Given the description of an element on the screen output the (x, y) to click on. 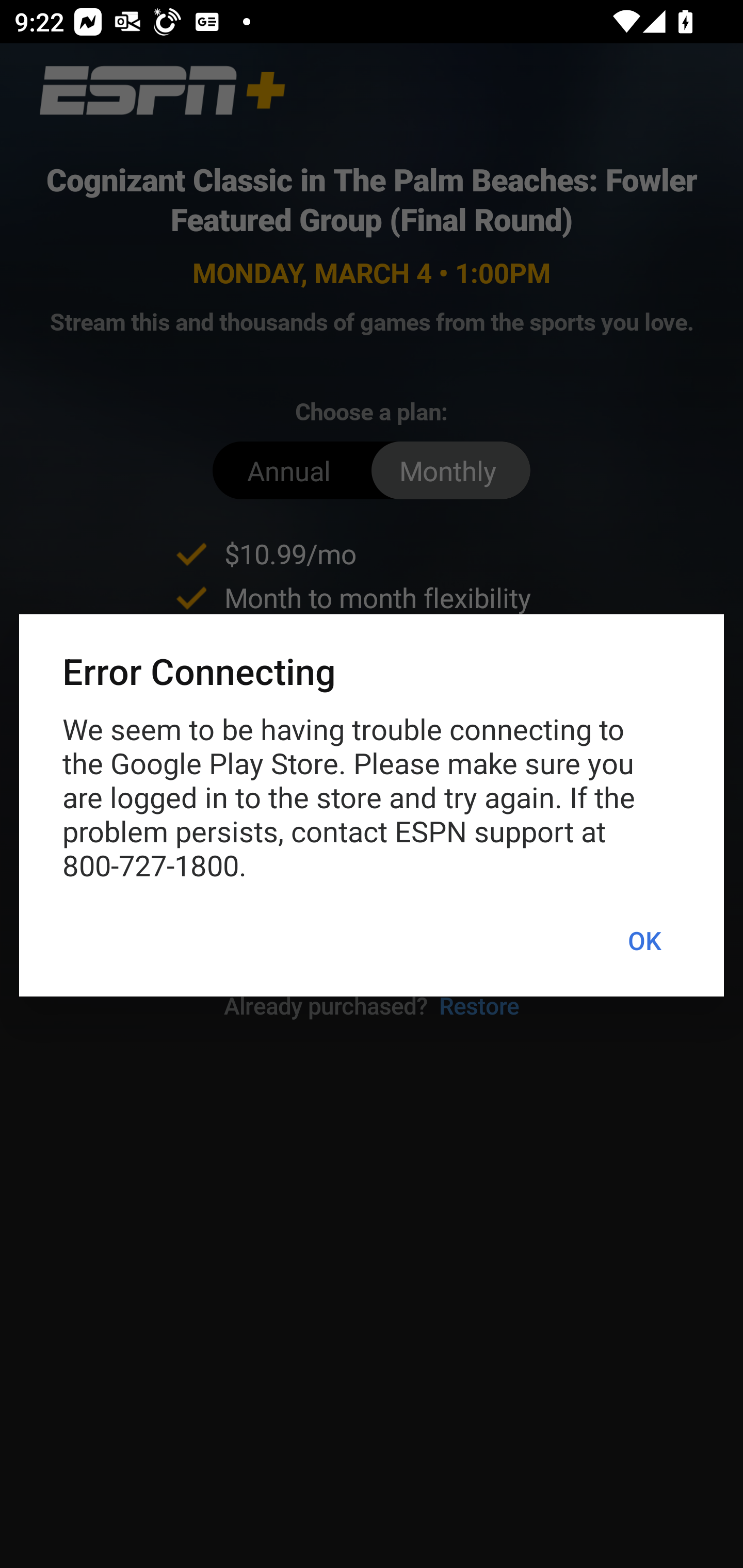
OK (644, 940)
